Given the description of an element on the screen output the (x, y) to click on. 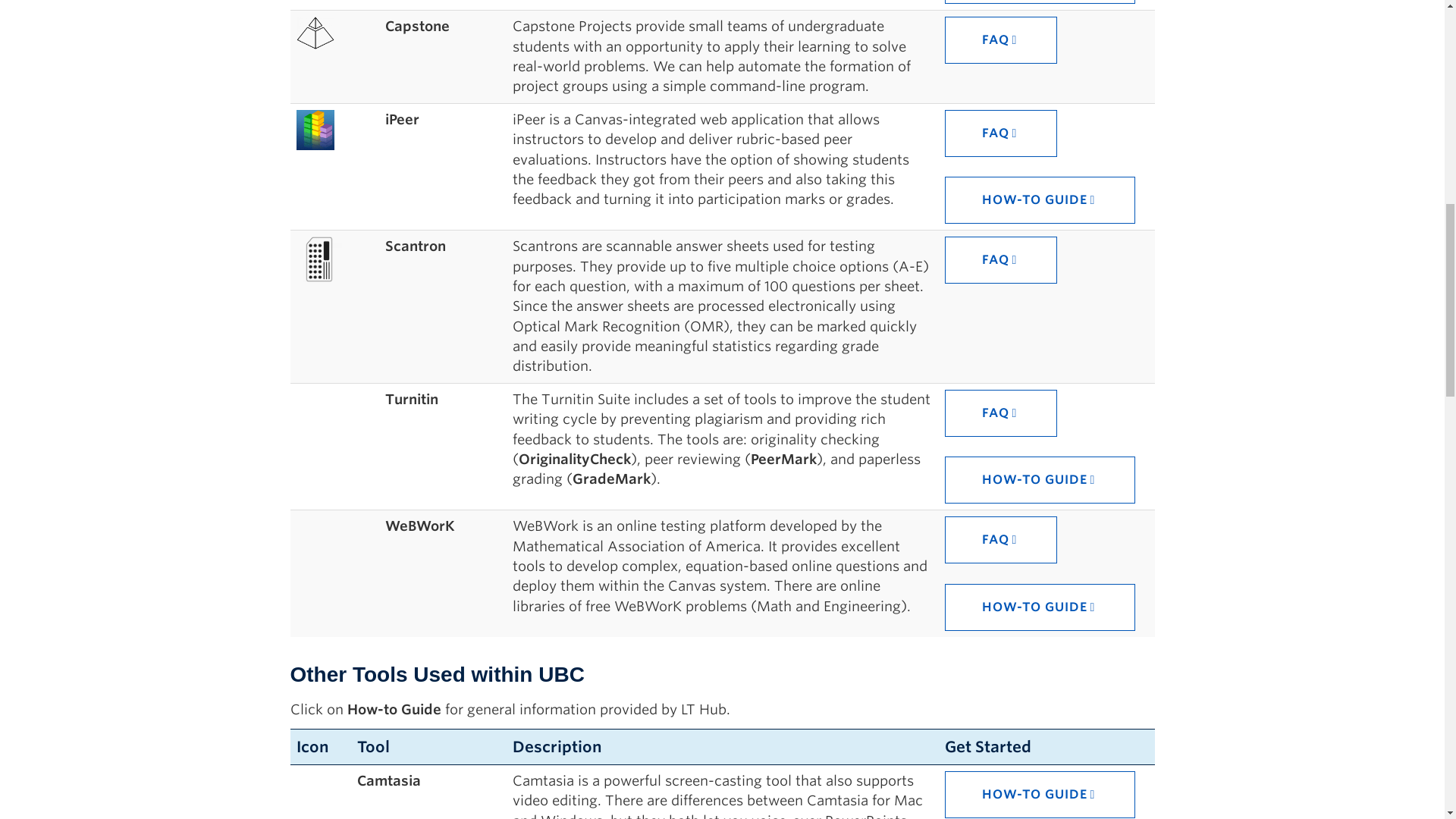
FAQ (1001, 412)
HOW-TO GUIDE (1039, 199)
HOW-TO GUIDE (1039, 2)
HOW-TO GUIDE (1039, 479)
FAQ (1001, 39)
FAQ (1001, 259)
HOW-TO GUIDE (1039, 794)
FAQ (1001, 133)
FAQ (1001, 539)
HOW-TO GUIDE (1039, 606)
